Given the description of an element on the screen output the (x, y) to click on. 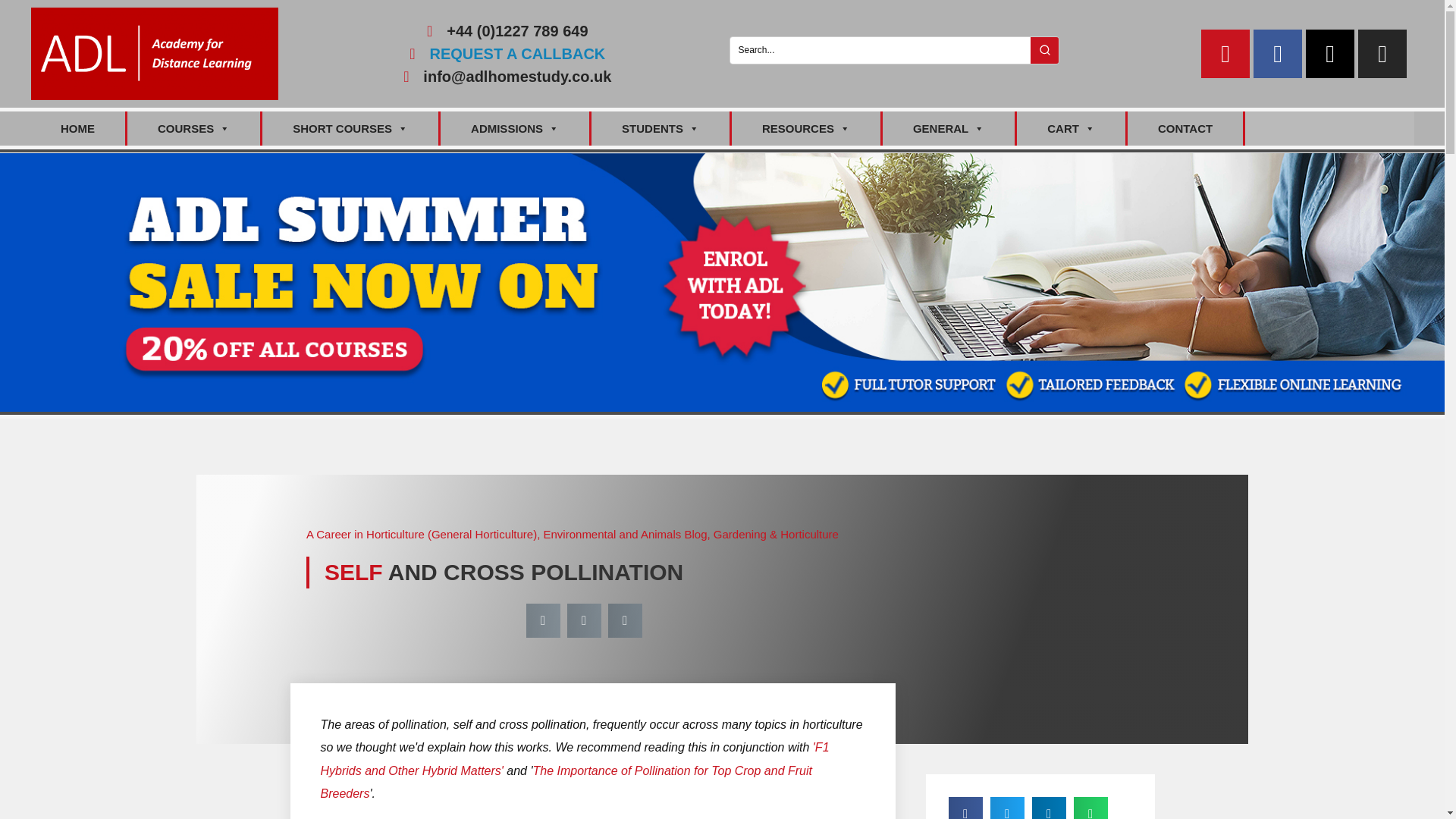
Search... (879, 49)
Search... (879, 49)
